Given the description of an element on the screen output the (x, y) to click on. 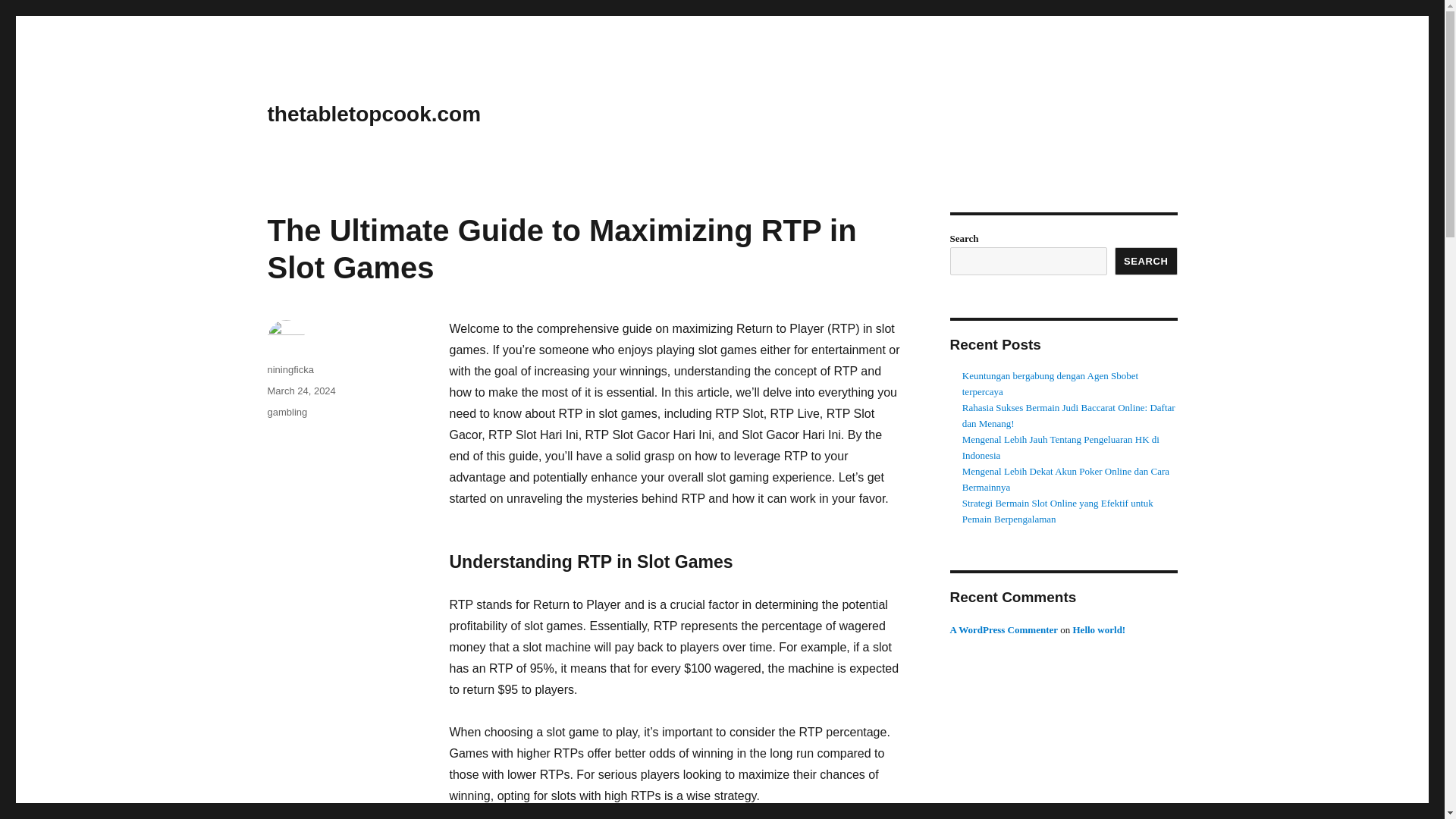
gambling (286, 411)
SEARCH (1146, 261)
March 24, 2024 (300, 390)
niningficka (289, 369)
thetabletopcook.com (373, 114)
Keuntungan bergabung dengan Agen Sbobet terpercaya (1050, 383)
